Given the description of an element on the screen output the (x, y) to click on. 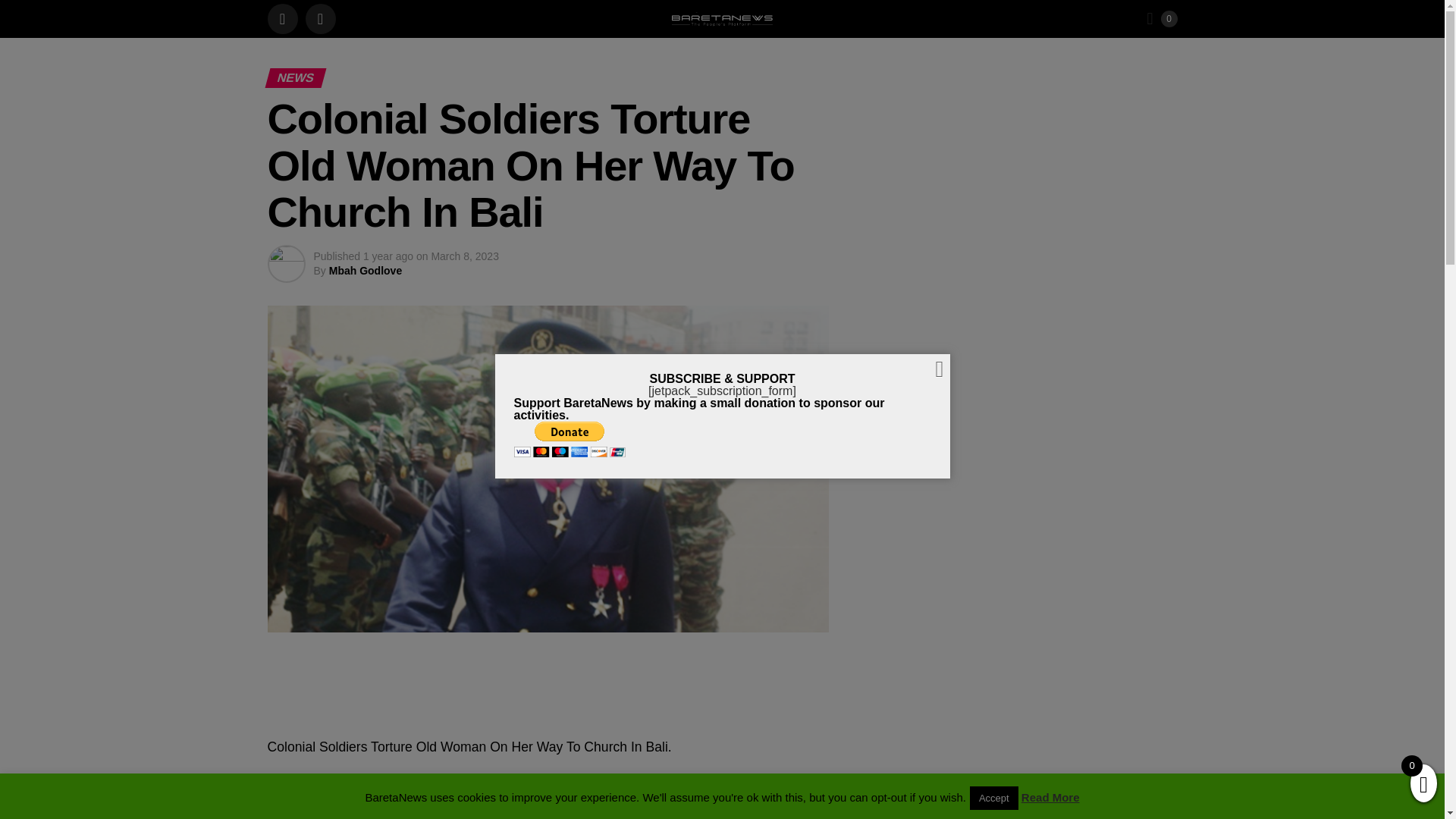
Advertisement (721, 178)
Advertisement (721, 263)
